Given the description of an element on the screen output the (x, y) to click on. 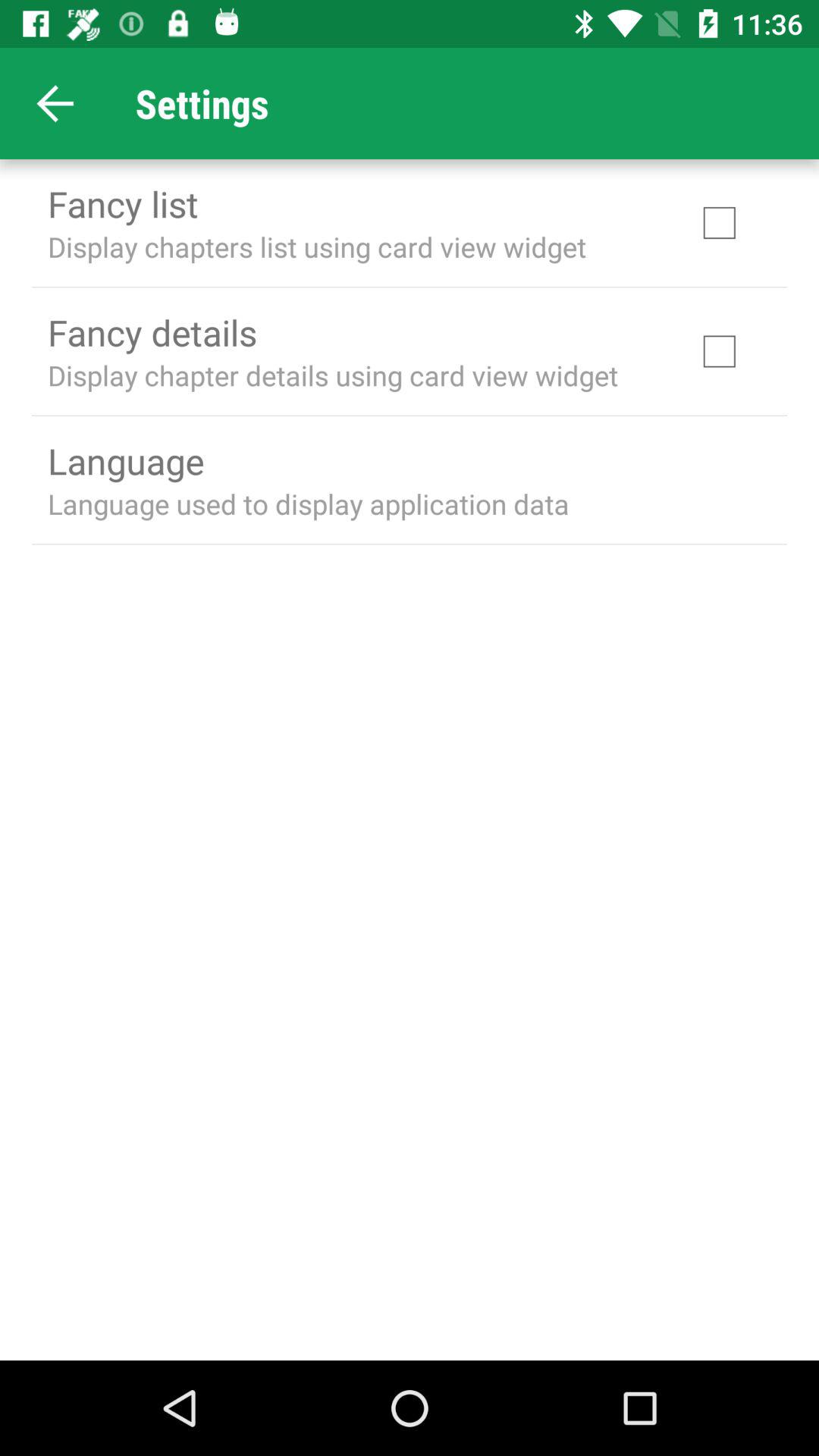
click app above fancy list app (55, 103)
